Given the description of an element on the screen output the (x, y) to click on. 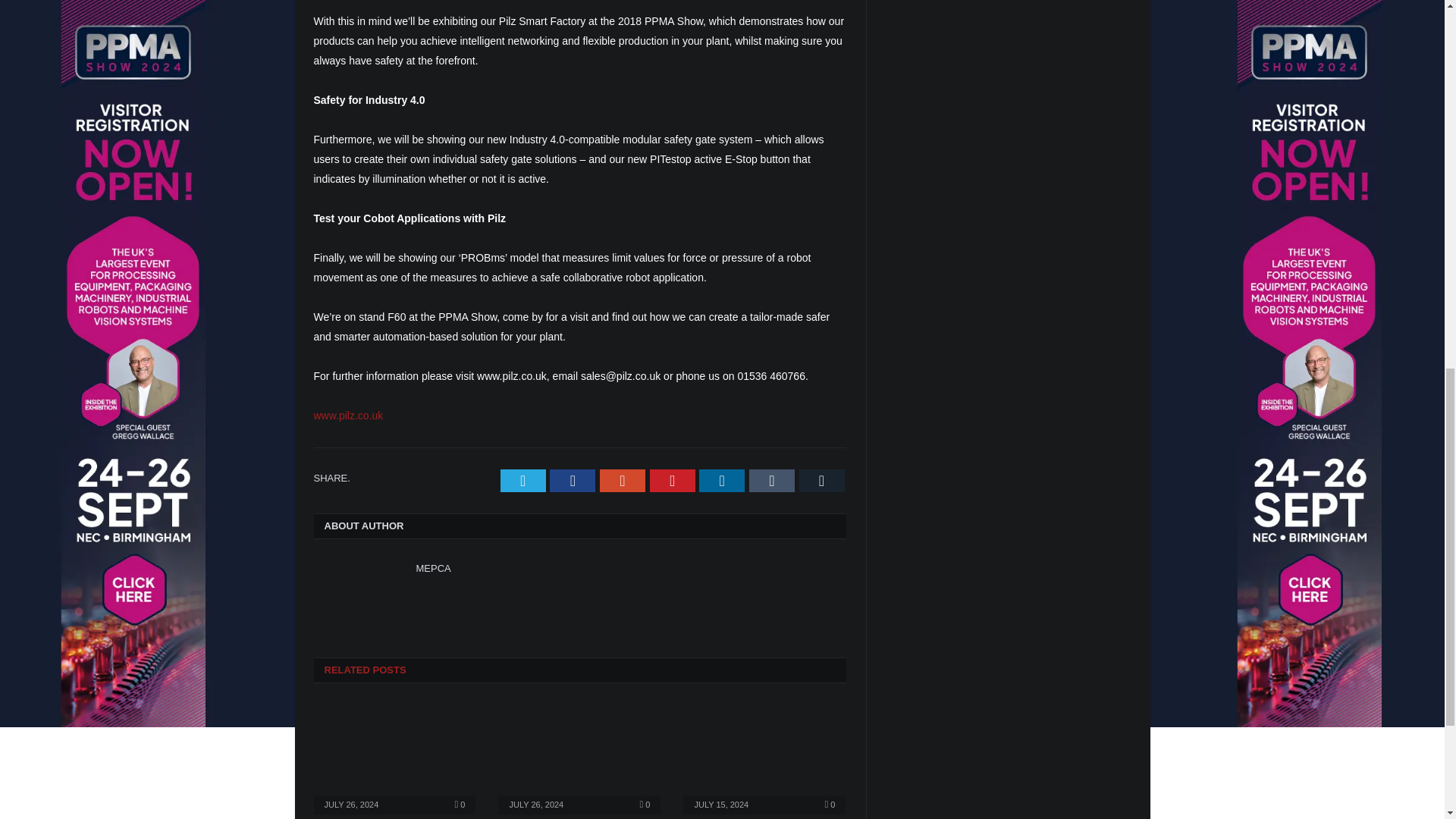
Posts by MEPCA (431, 568)
